Given the description of an element on the screen output the (x, y) to click on. 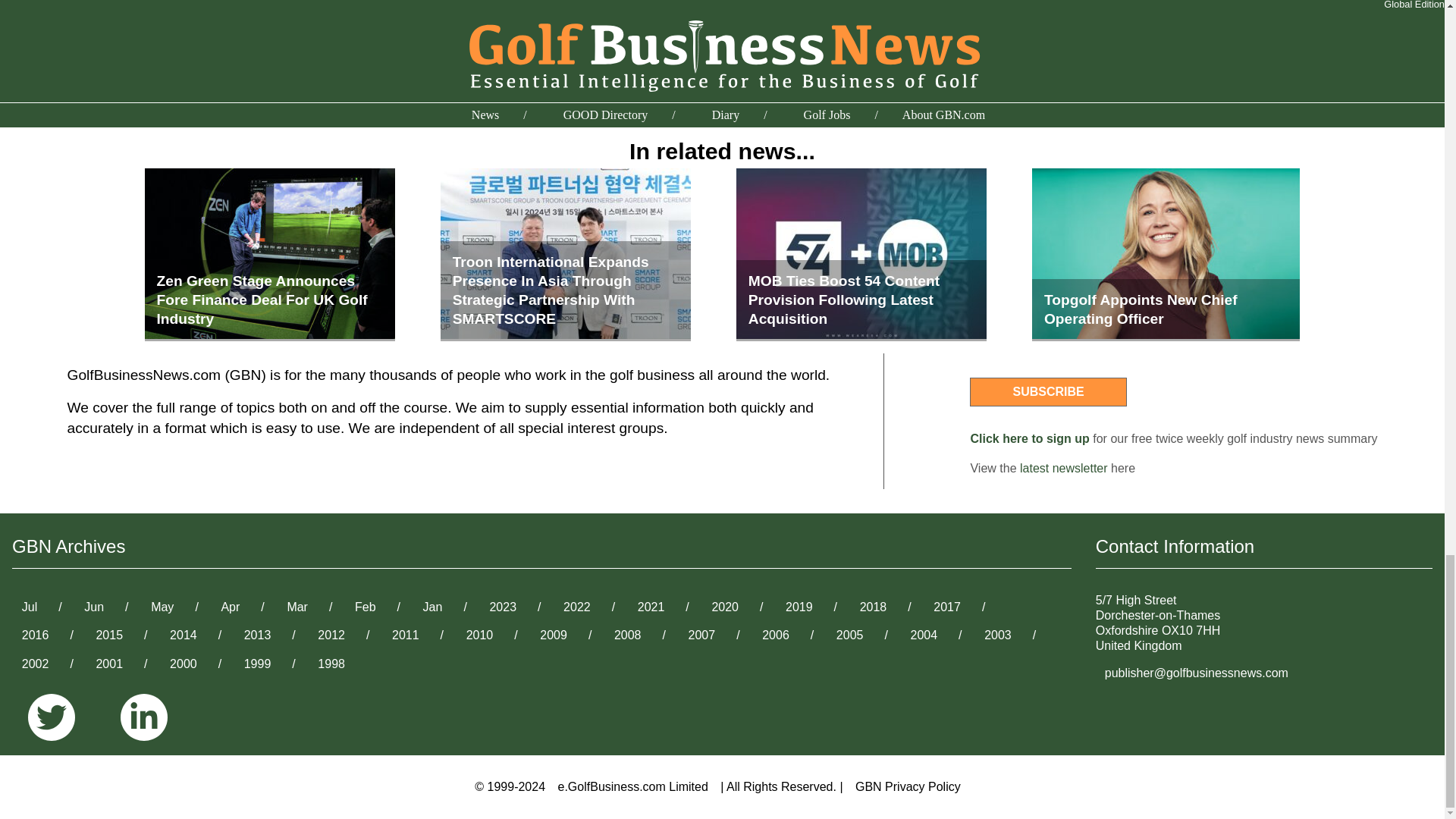
Connect with us on LinkedIn (143, 718)
May (162, 606)
Share on Twitter (993, 1)
latest newsletter (1064, 468)
Click here to sign up (1029, 438)
Topgolf Appoints New Chief Operating Officer (1166, 254)
SUBSCRIBE (1047, 391)
Share on LinkedIn (998, 24)
Jul (29, 606)
Jun (94, 606)
Follow us on Twitter (57, 718)
